Given the description of an element on the screen output the (x, y) to click on. 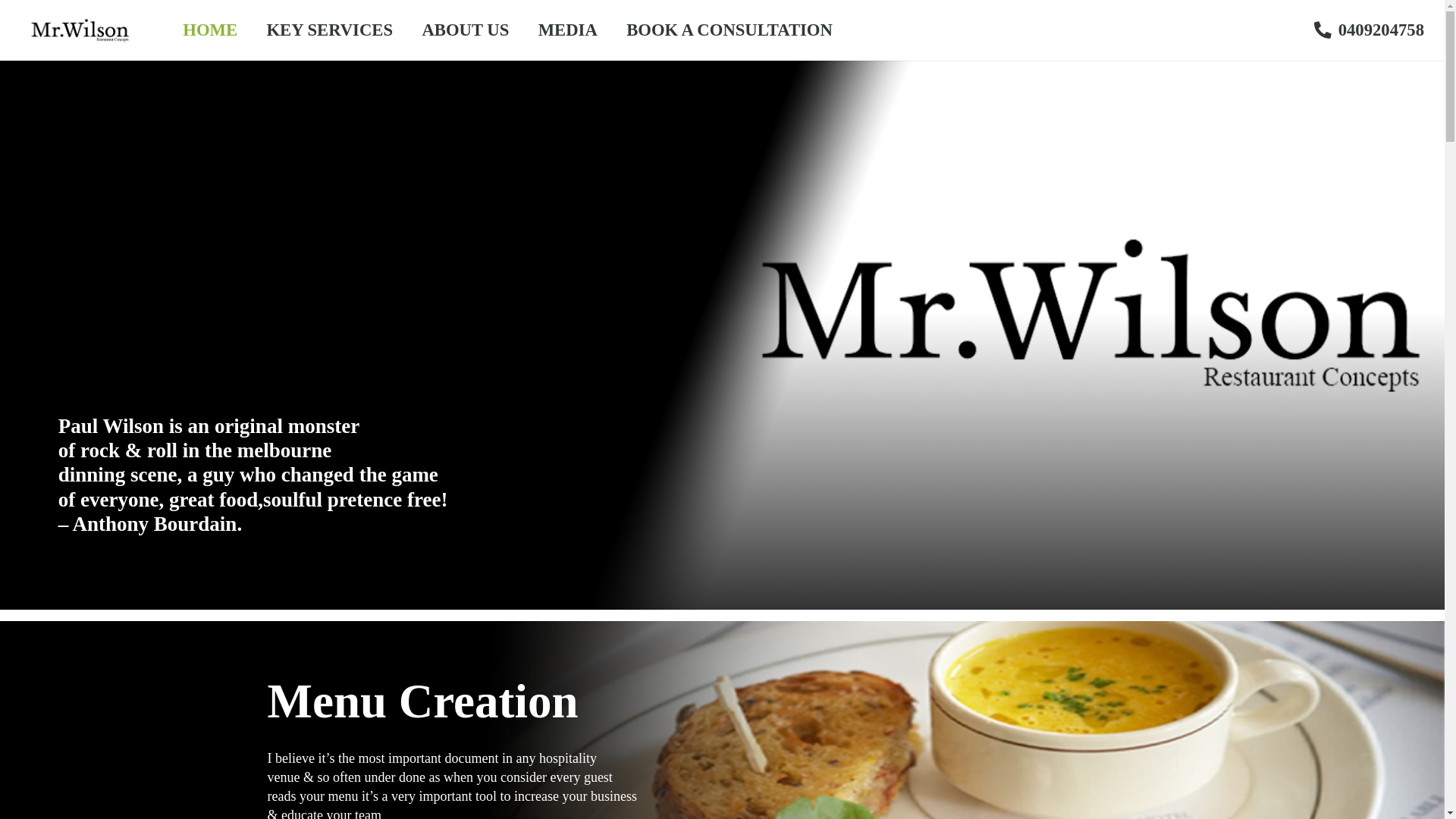
BOOK A CONSULTATION Element type: text (729, 30)
ABOUT US Element type: text (465, 30)
KEY SERVICES Element type: text (329, 30)
HOME Element type: text (209, 30)
MEDIA Element type: text (567, 30)
0409204758 Element type: text (1369, 29)
